Given the description of an element on the screen output the (x, y) to click on. 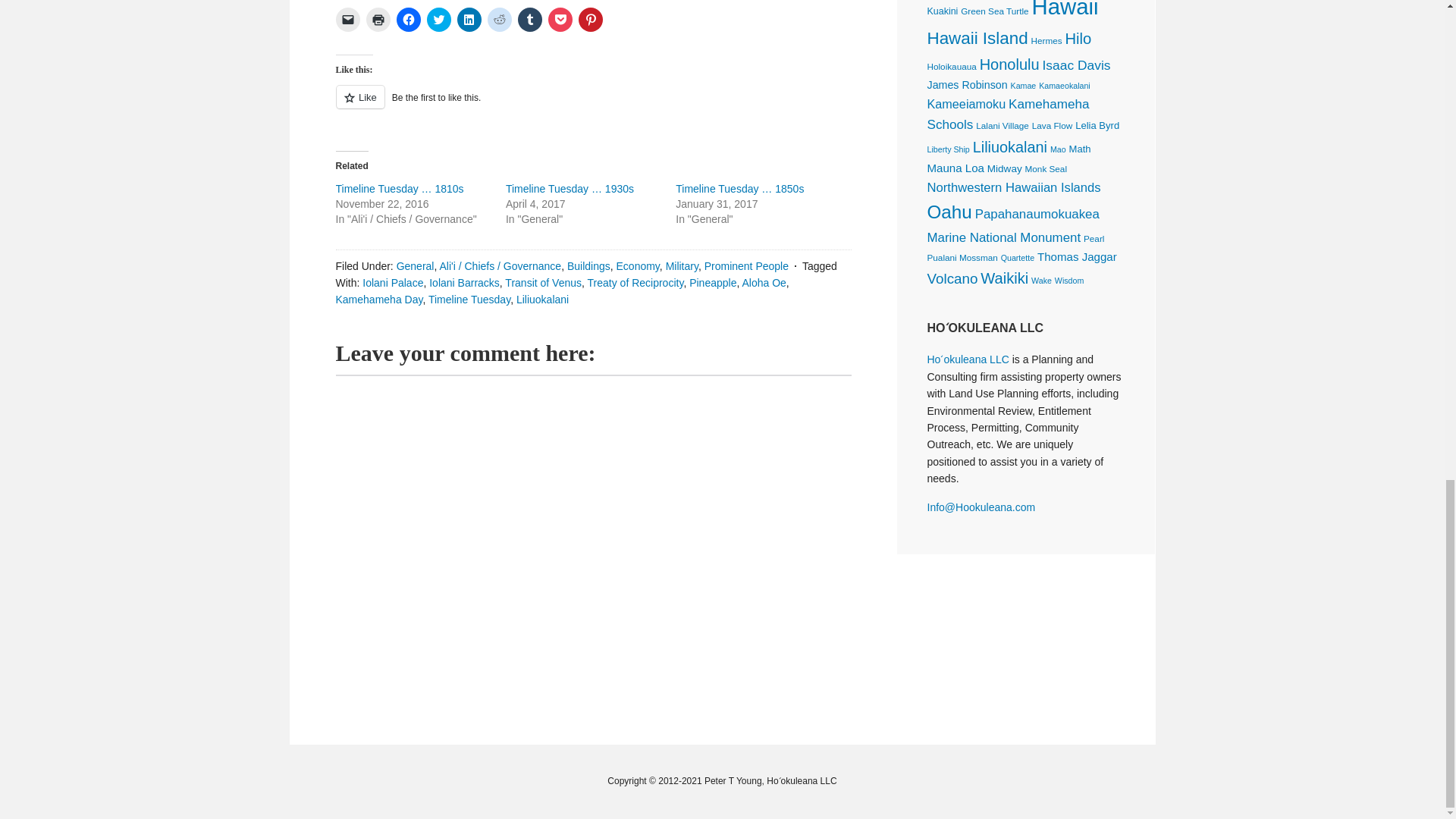
Click to share on Pinterest (590, 19)
Click to share on Twitter (437, 19)
Click to share on LinkedIn (468, 19)
Click to share on Facebook (408, 19)
Click to share on Reddit (498, 19)
Click to share on Pocket (559, 19)
Click to print (377, 19)
Like or Reblog (592, 105)
Click to share on Tumblr (528, 19)
Click to email a link to a friend (346, 19)
